Given the description of an element on the screen output the (x, y) to click on. 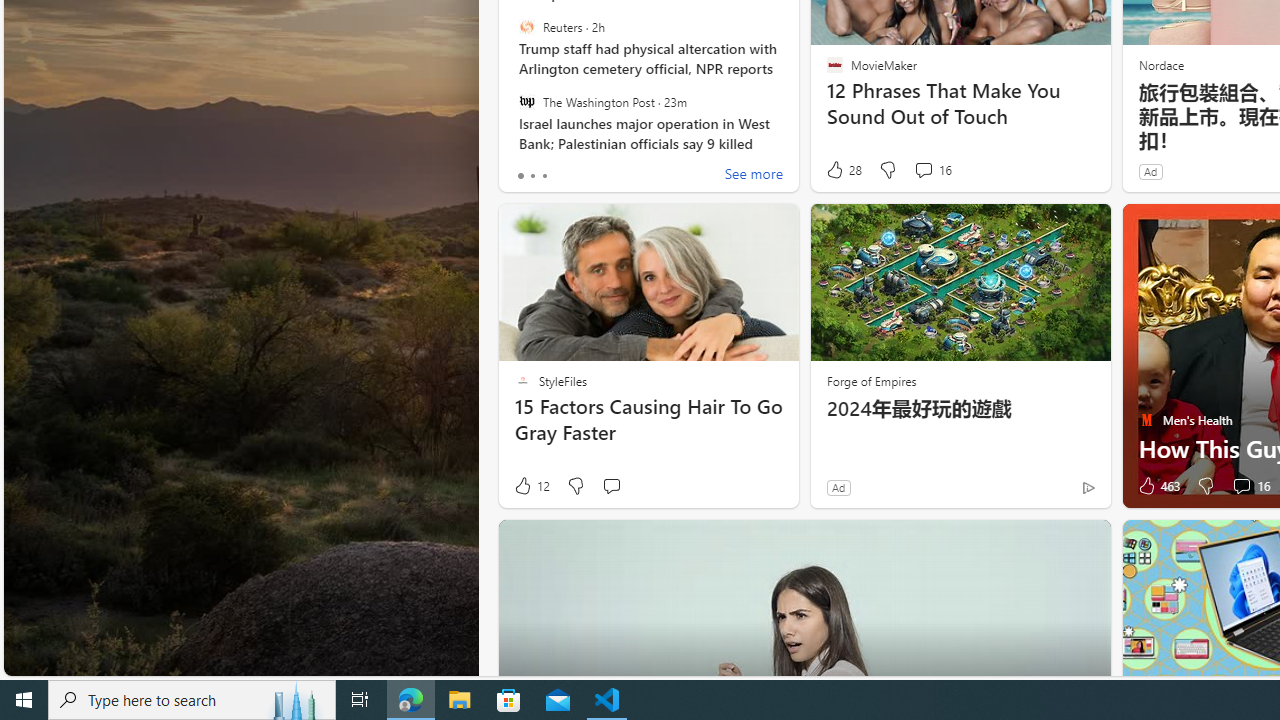
Start the conversation (611, 485)
View comments 16 Comment (1241, 485)
View comments 16 Comment (1249, 485)
tab-1 (532, 175)
